Given the description of an element on the screen output the (x, y) to click on. 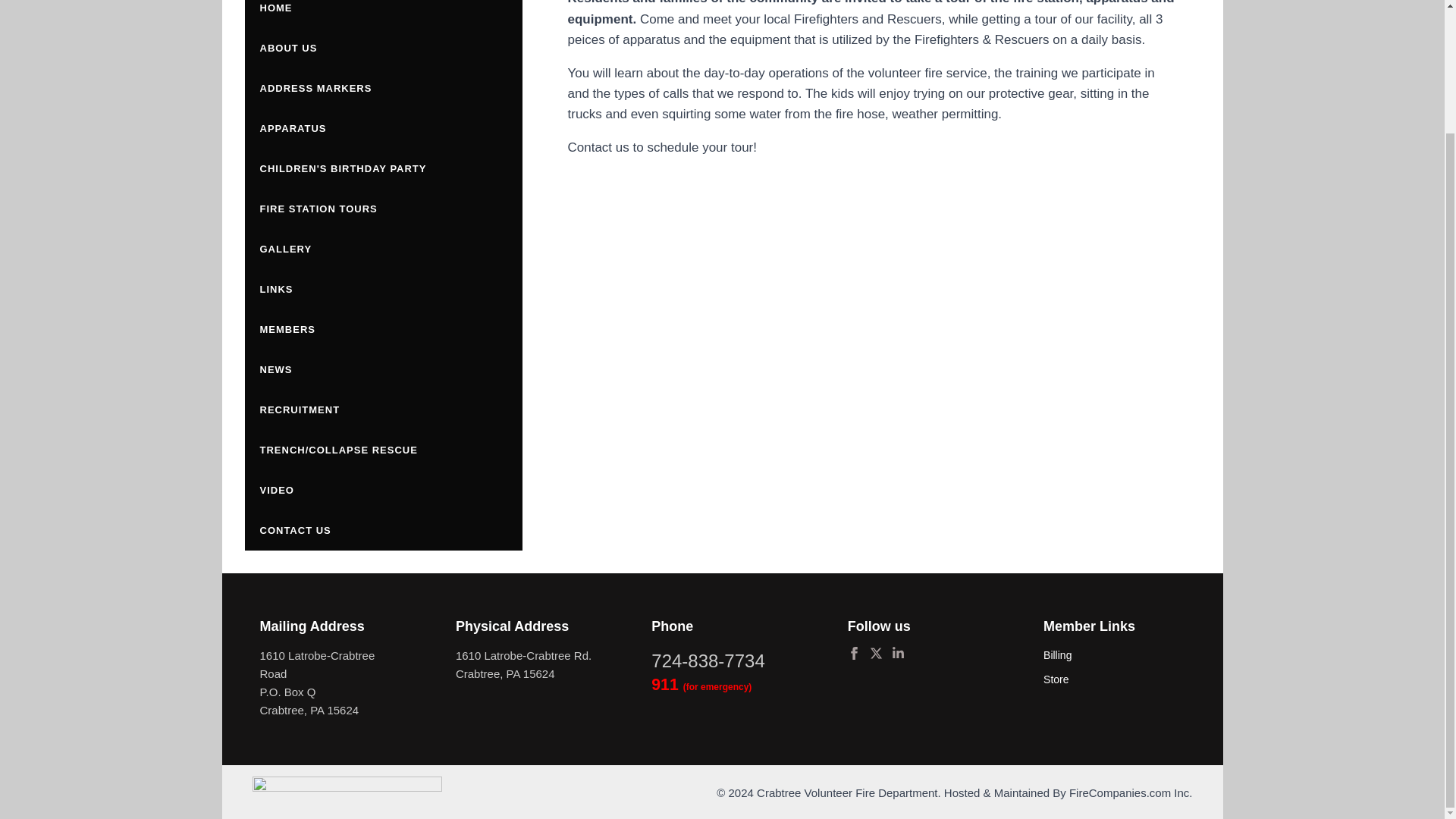
HOME (382, 13)
VIDEO (382, 490)
LINKS (382, 289)
CHILDREN'S BIRTHDAY PARTY (382, 168)
RECRUITMENT (382, 409)
CONTACT US (382, 530)
ADDRESS MARKERS (382, 87)
FIRE STATION TOURS (382, 209)
ABOUT US (382, 47)
MEMBERS (382, 329)
